Given the description of an element on the screen output the (x, y) to click on. 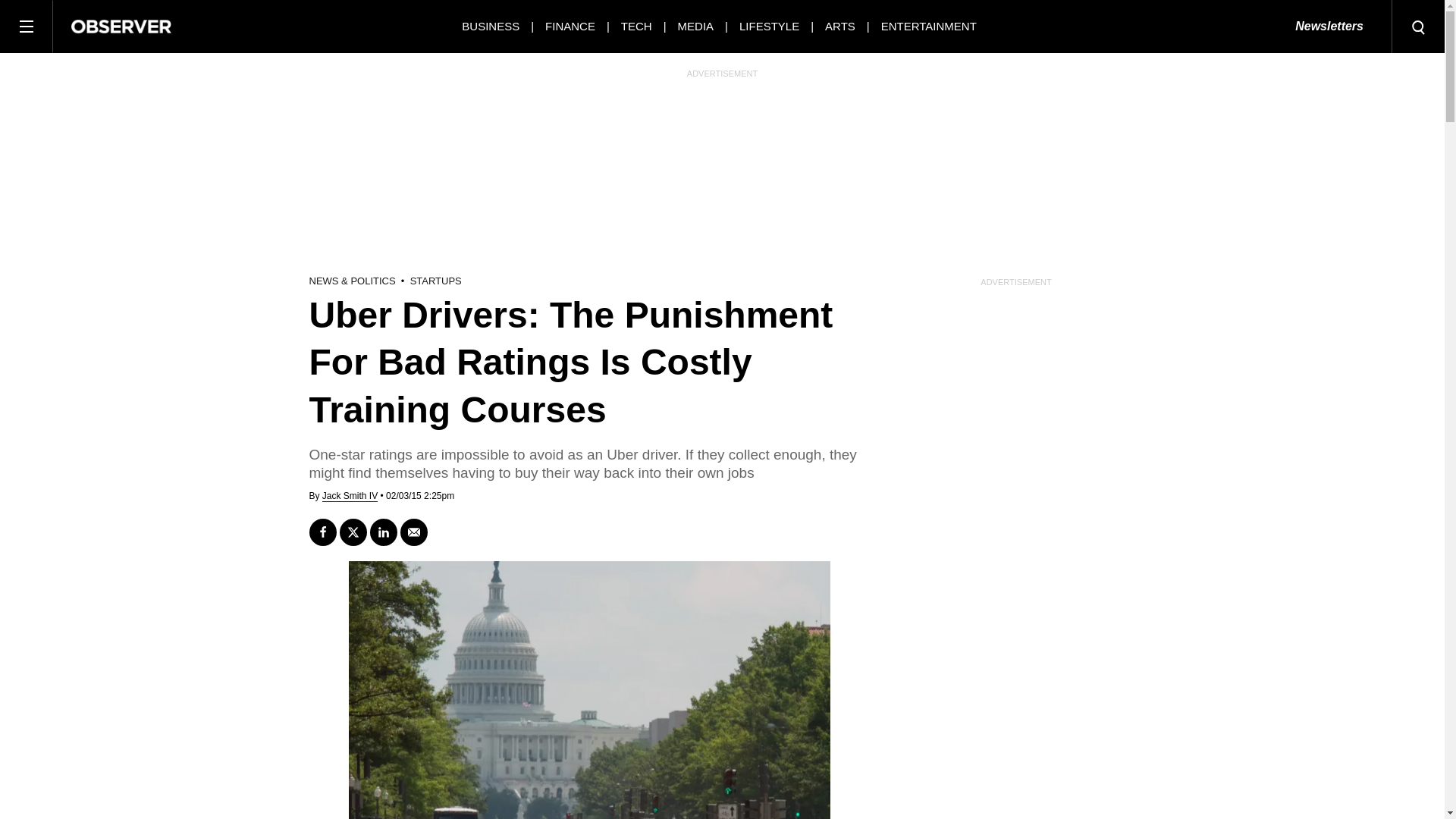
Share on Facebook (322, 532)
BUSINESS (490, 25)
FINANCE (569, 25)
Tweet (352, 532)
ARTS (840, 25)
Newsletters (1329, 26)
TECH (636, 25)
Send email (414, 532)
Share on LinkedIn (383, 532)
MEDIA (696, 25)
